Given the description of an element on the screen output the (x, y) to click on. 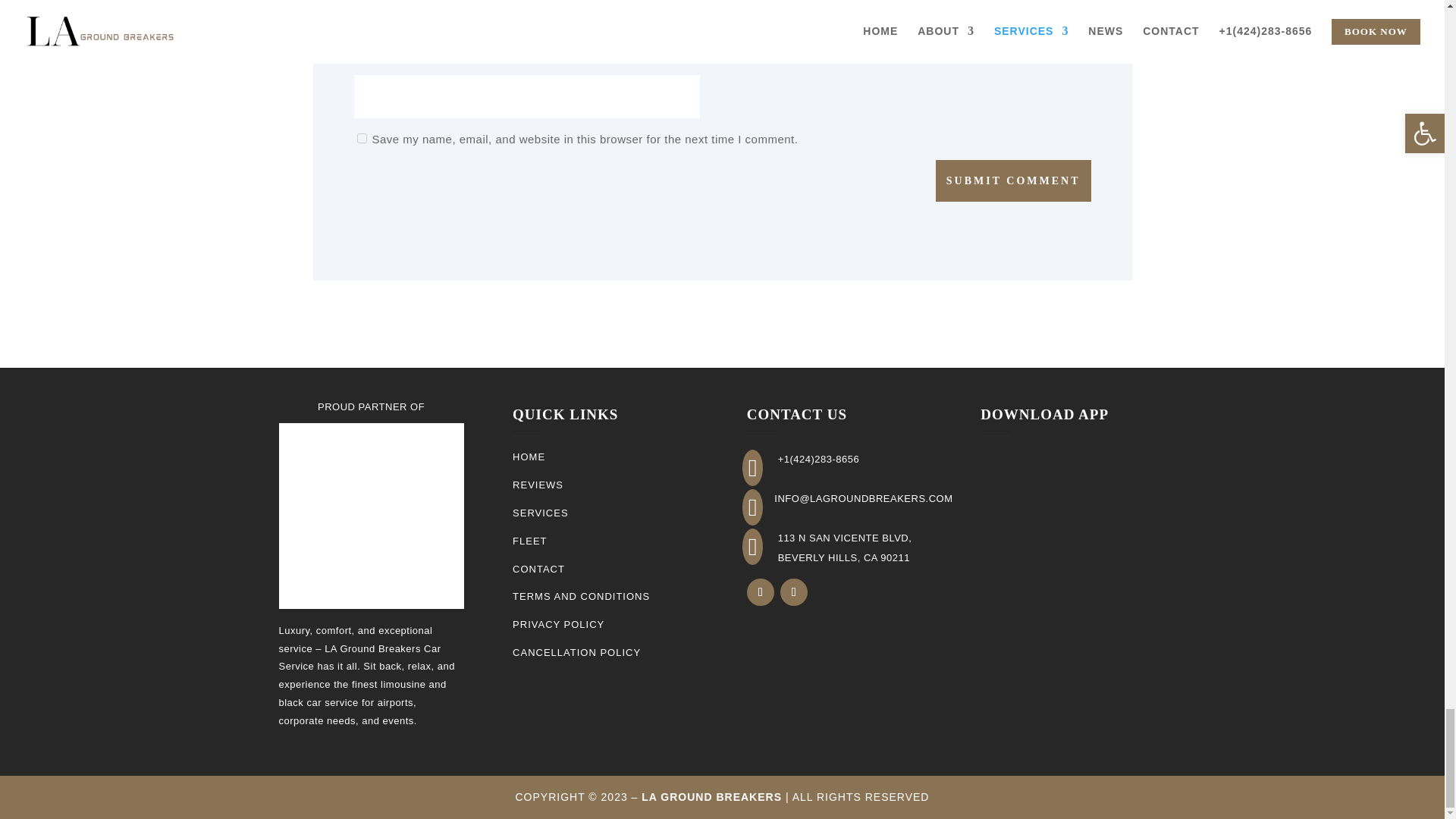
Follow on Instagram (794, 592)
yes (361, 138)
Follow on Facebook (760, 592)
